Given the description of an element on the screen output the (x, y) to click on. 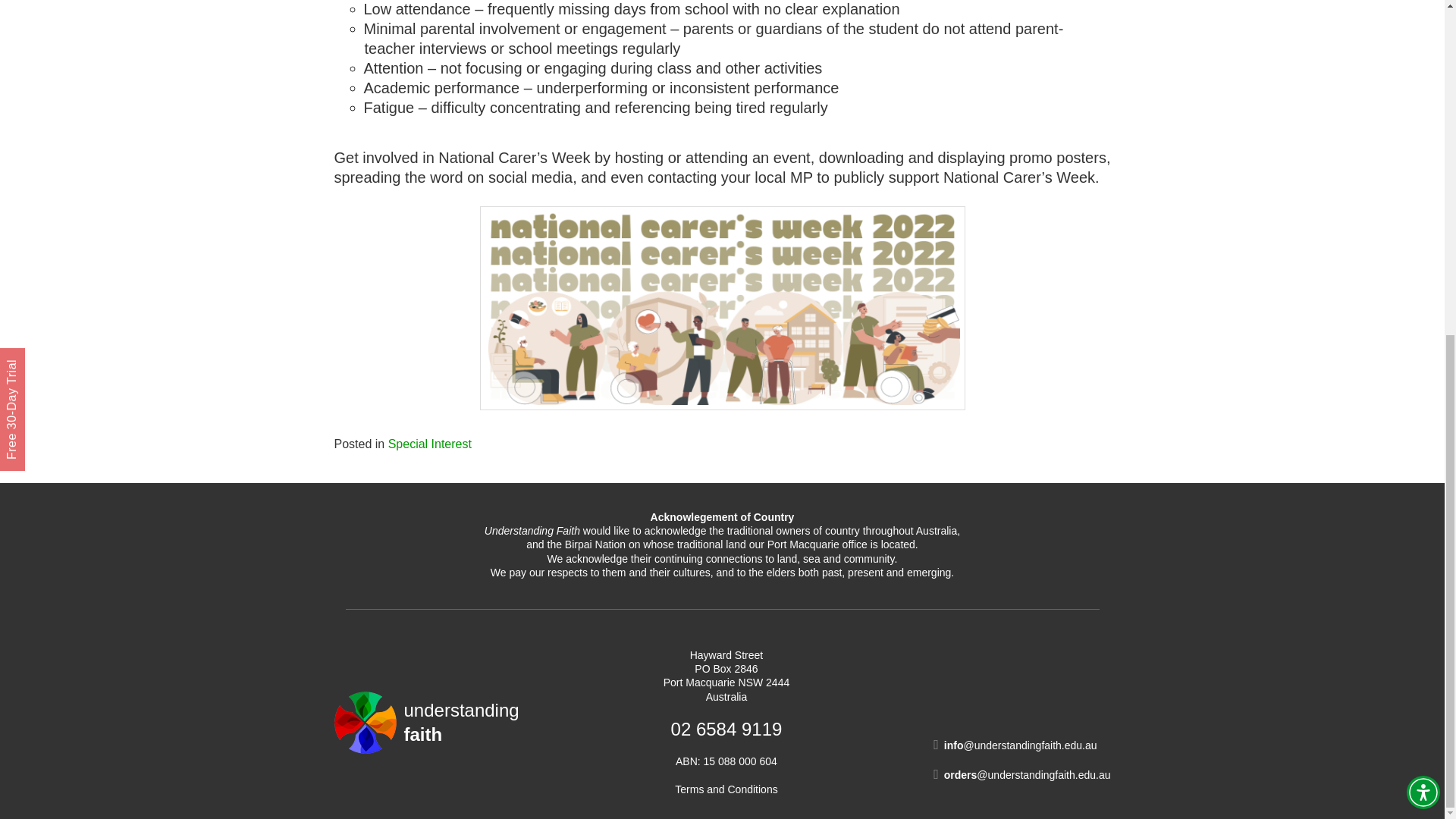
Special Interest (425, 722)
Terms and Conditions (429, 443)
Accessibility Menu (726, 788)
